Given the description of an element on the screen output the (x, y) to click on. 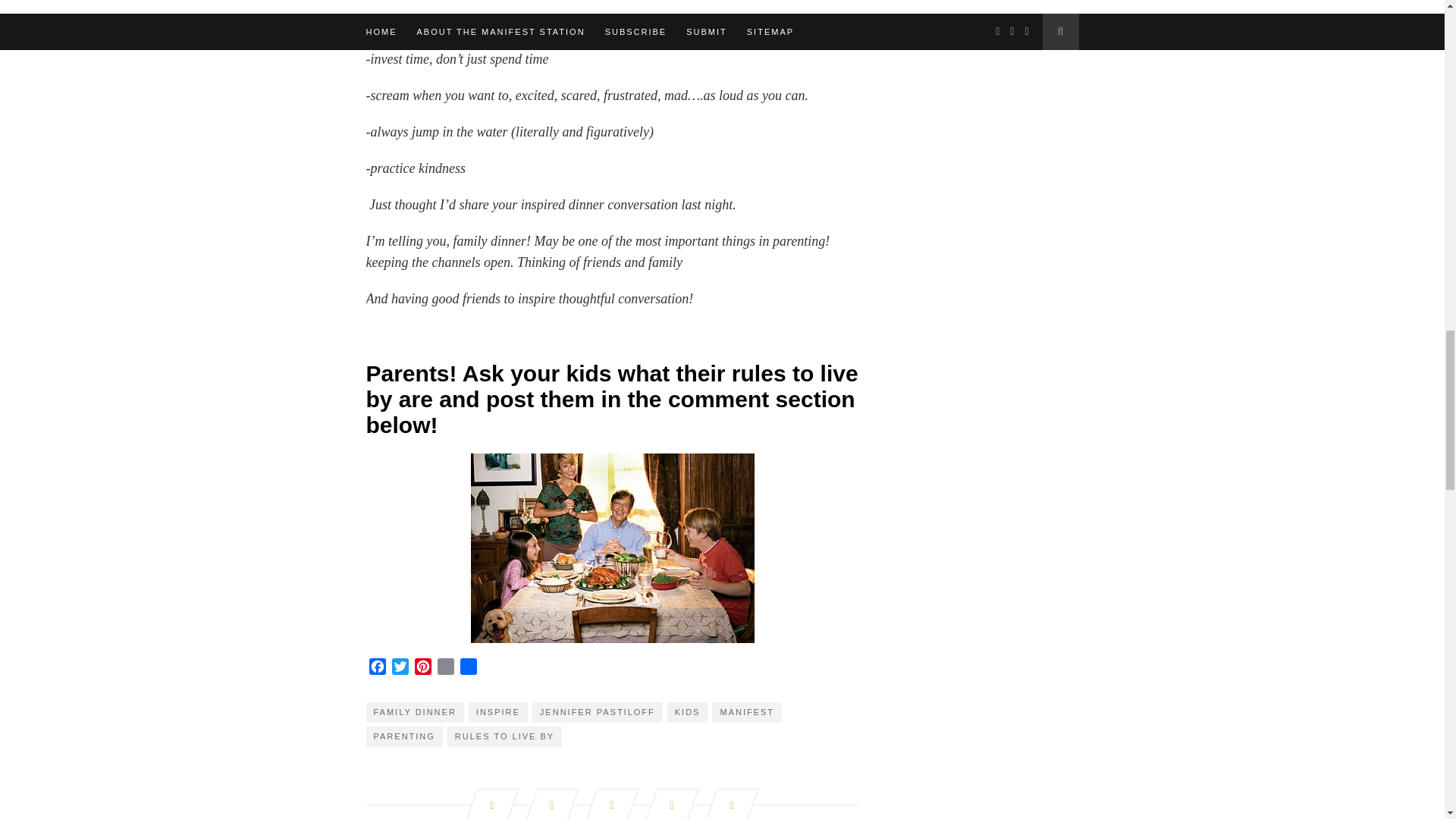
Facebook (376, 668)
Facebook (376, 668)
KIDS (686, 711)
Twitter (399, 668)
MANIFEST (746, 711)
FAMILY DINNER (414, 711)
Twitter (399, 668)
Pinterest (421, 668)
RULES TO LIVE BY (504, 736)
JENNIFER PASTILOFF (597, 711)
fofamily0603 (612, 547)
Email (445, 668)
Email (445, 668)
PARENTING (403, 736)
Pinterest (421, 668)
